Given the description of an element on the screen output the (x, y) to click on. 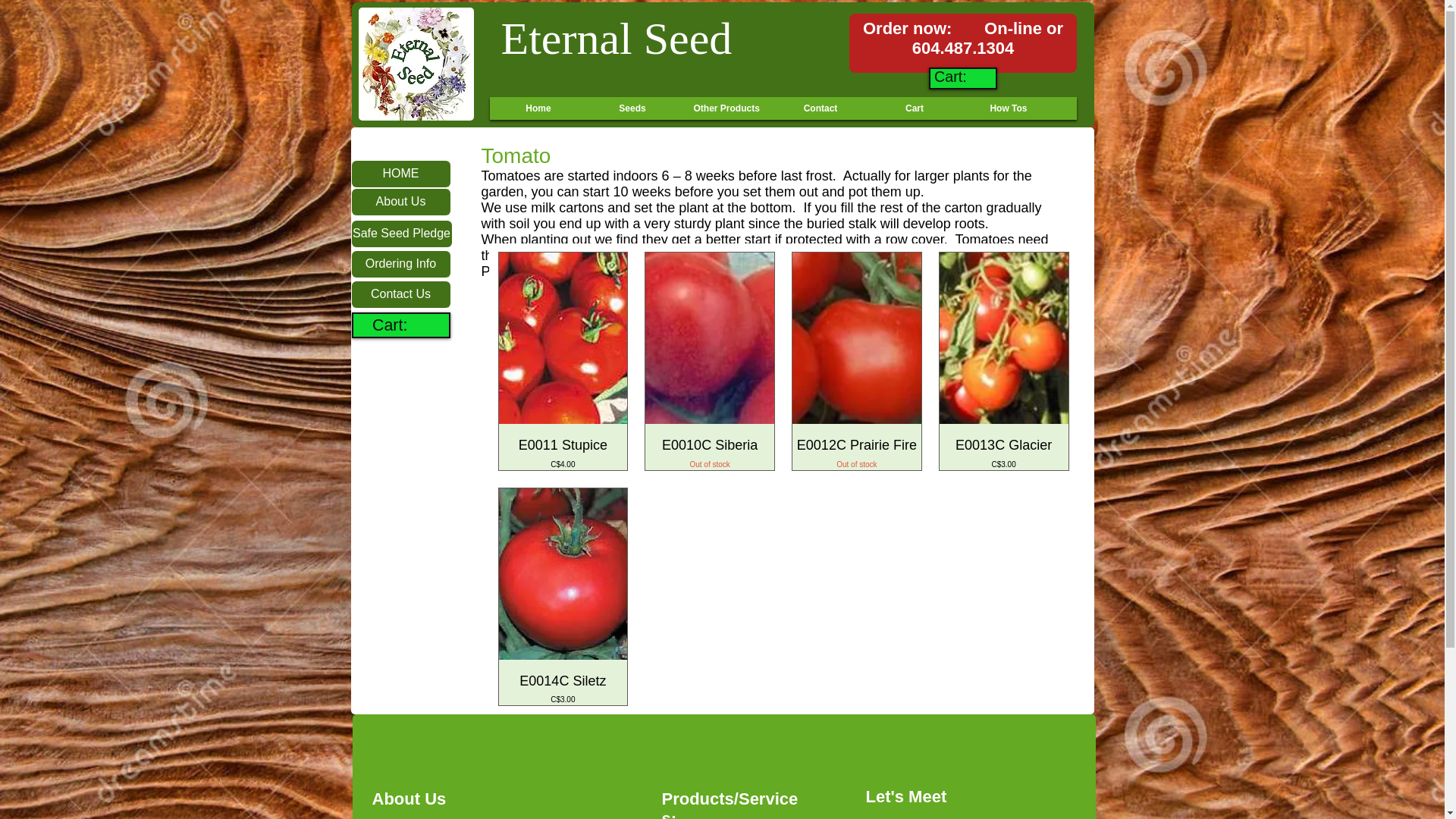
Cart (914, 108)
Cart: (962, 76)
Safe Seed Pledge (401, 233)
Contact (819, 108)
HOME (400, 173)
Contact Us (400, 294)
Ordering Info (400, 263)
Home (856, 452)
Other Products (538, 108)
Cart: (726, 108)
How Tos (401, 324)
Cart: (1007, 108)
Cart: (401, 324)
